Given the description of an element on the screen output the (x, y) to click on. 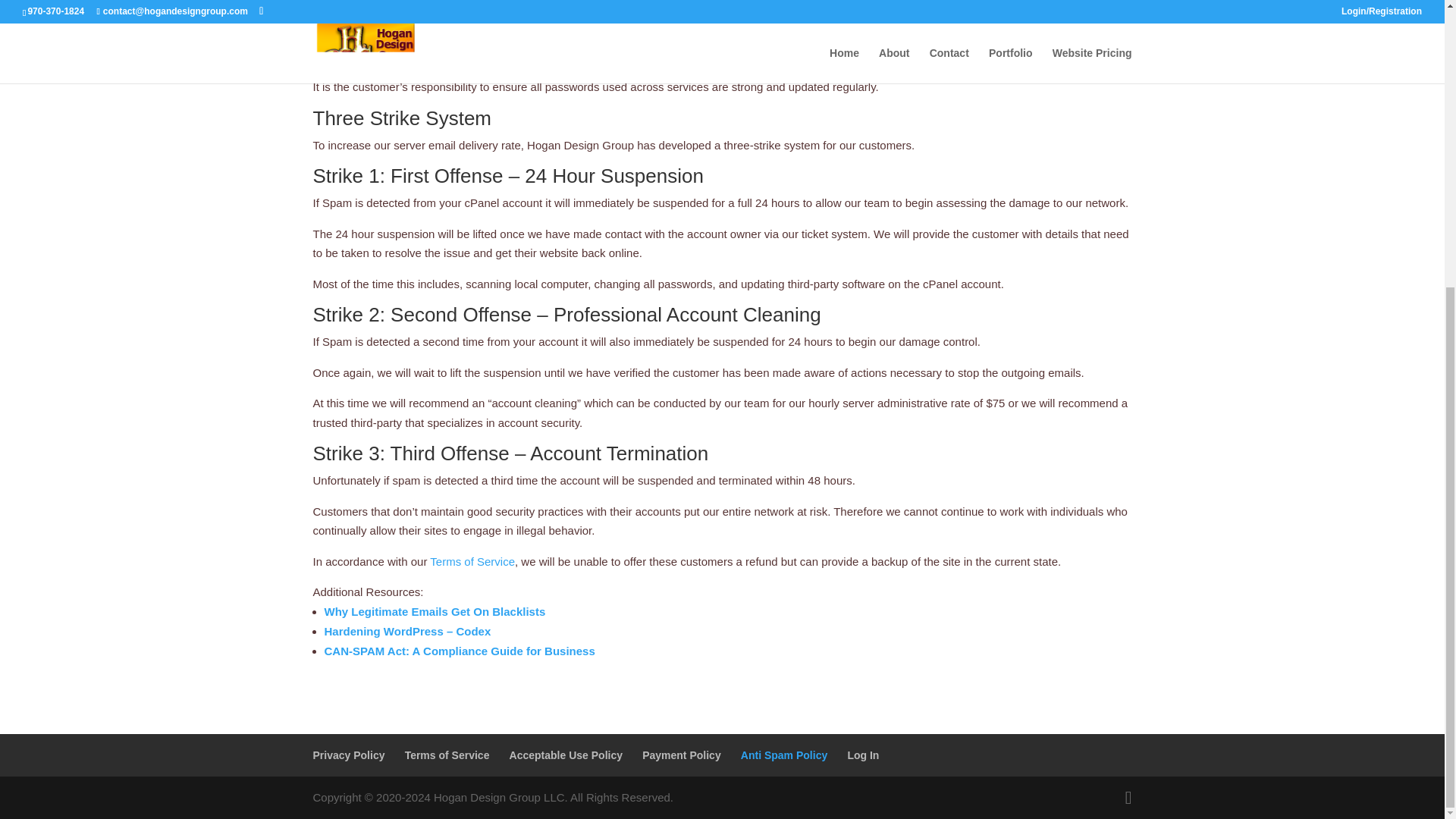
Anti Spam Policy (784, 755)
Acceptable Use Policy (566, 755)
Terms of Service (446, 755)
Log In (863, 755)
CAN-SPAM Act: A Compliance Guide for Business (459, 650)
Why Legitimate Emails Get On Blacklists (435, 611)
Privacy Policy (348, 755)
Terms of Service (472, 561)
Payment Policy (681, 755)
